Given the description of an element on the screen output the (x, y) to click on. 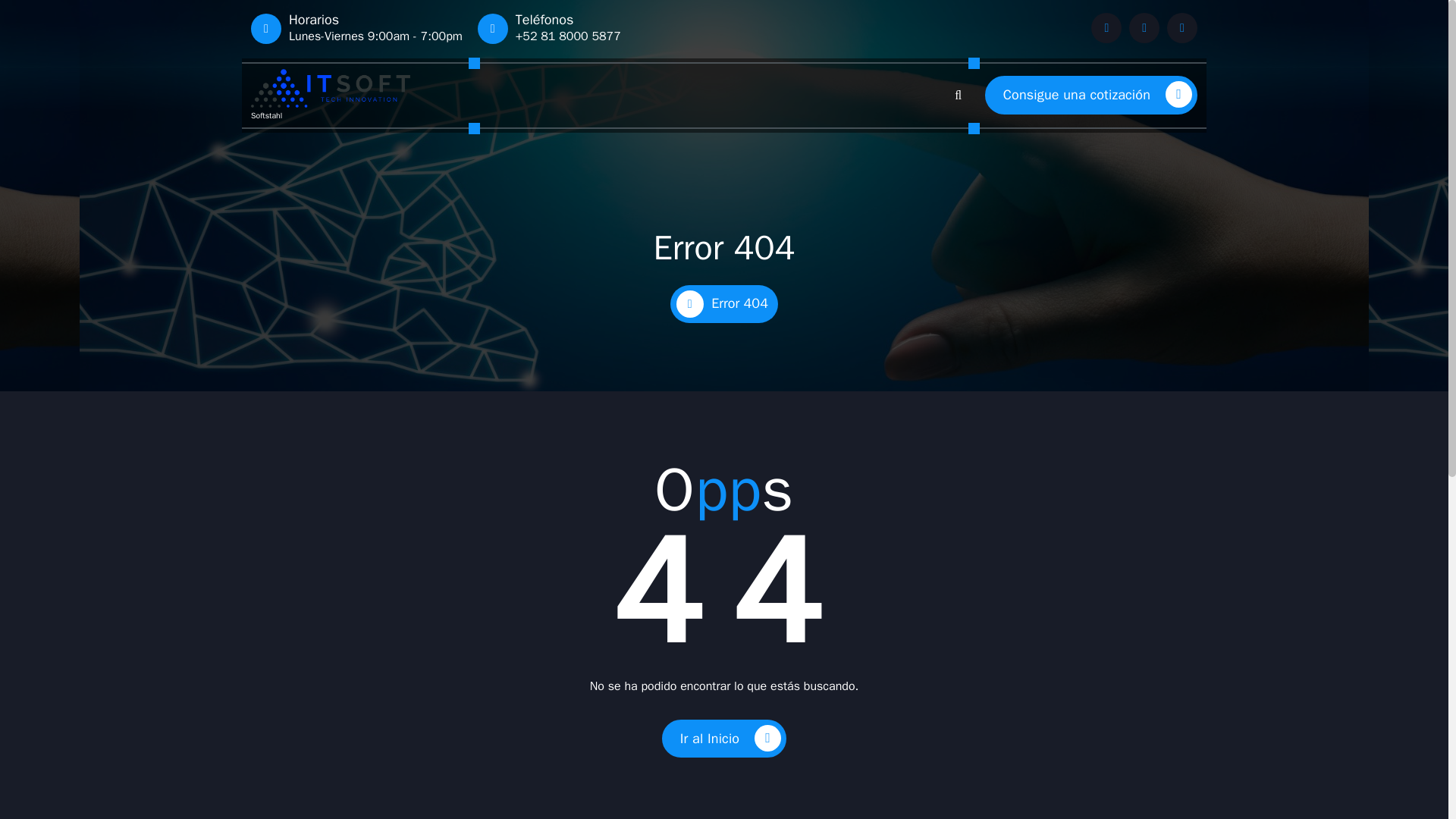
Lunes-Viernes 9:00am - 7:00pm (375, 36)
Ir al Inicio (724, 738)
